Given the description of an element on the screen output the (x, y) to click on. 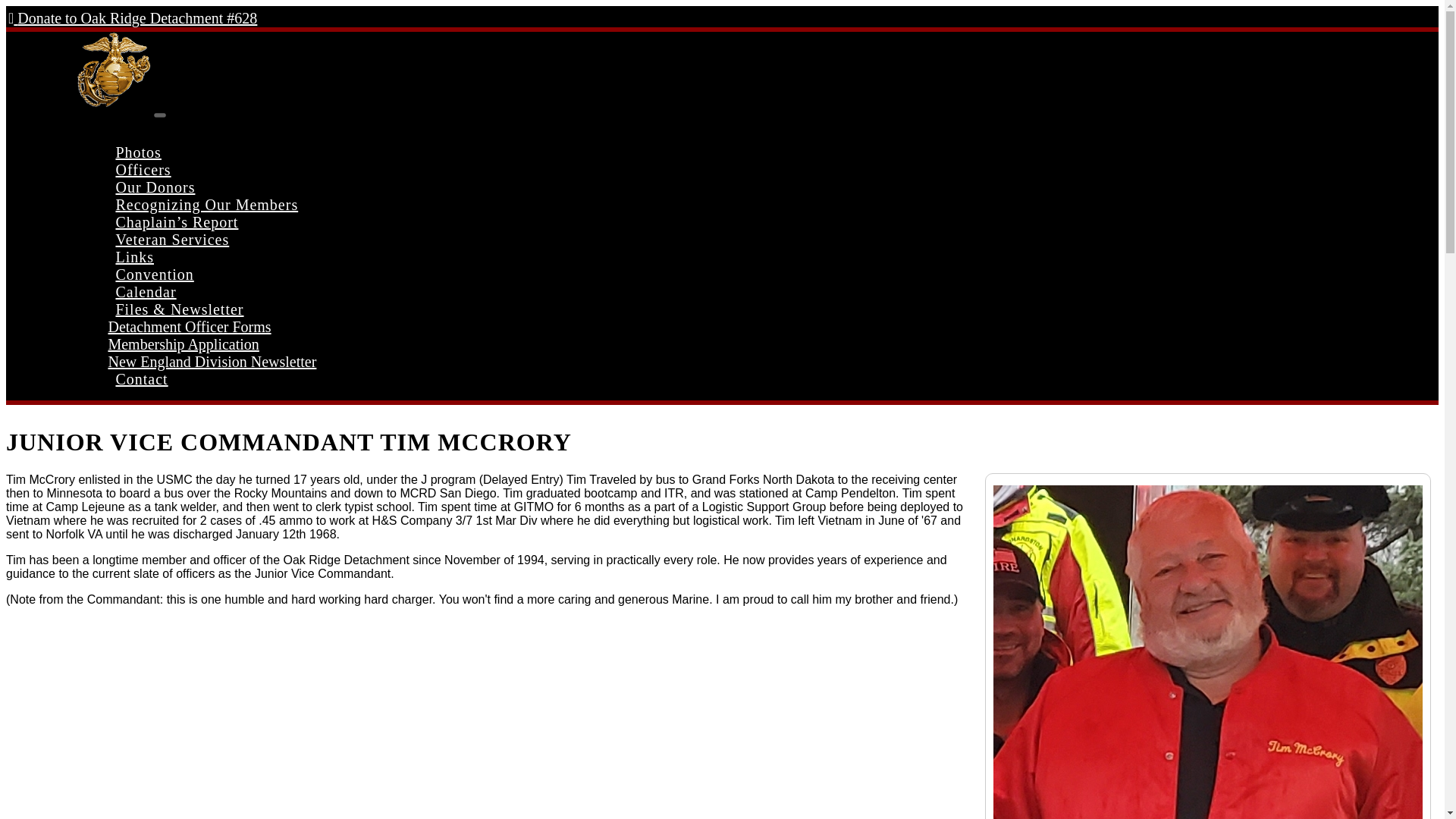
Recognizing Our Members (206, 204)
Photos (137, 152)
Officers (142, 169)
Links (134, 256)
Convention (153, 274)
Veteran Services (171, 239)
Detachment Officer Forms (188, 326)
Calendar (145, 291)
New England Division Newsletter (211, 361)
Contact (140, 378)
Membership Application (183, 343)
Our Donors (154, 186)
